Given the description of an element on the screen output the (x, y) to click on. 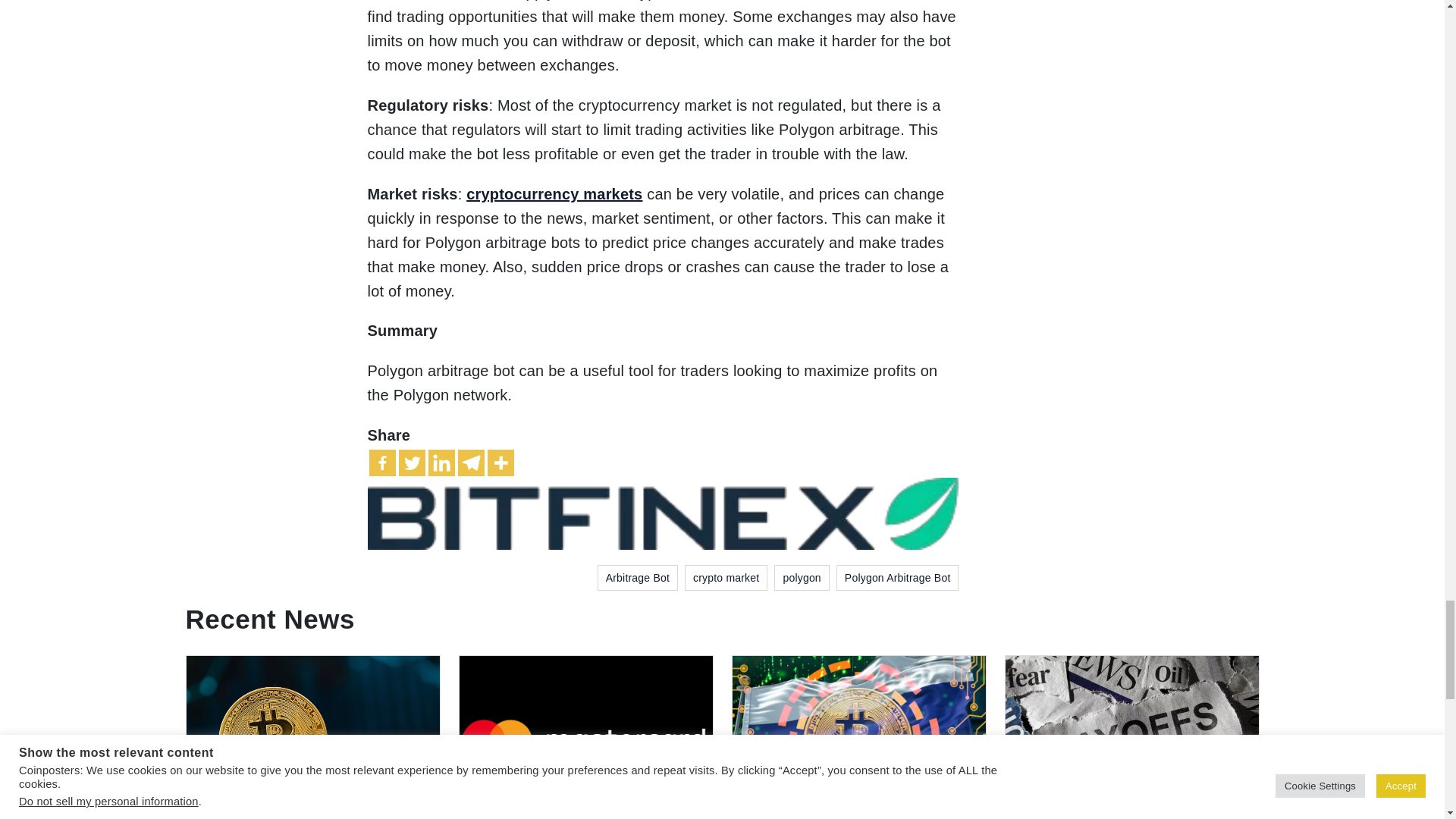
Facebook (381, 462)
Twitter (411, 462)
cryptocurrency markets (553, 193)
